Given the description of an element on the screen output the (x, y) to click on. 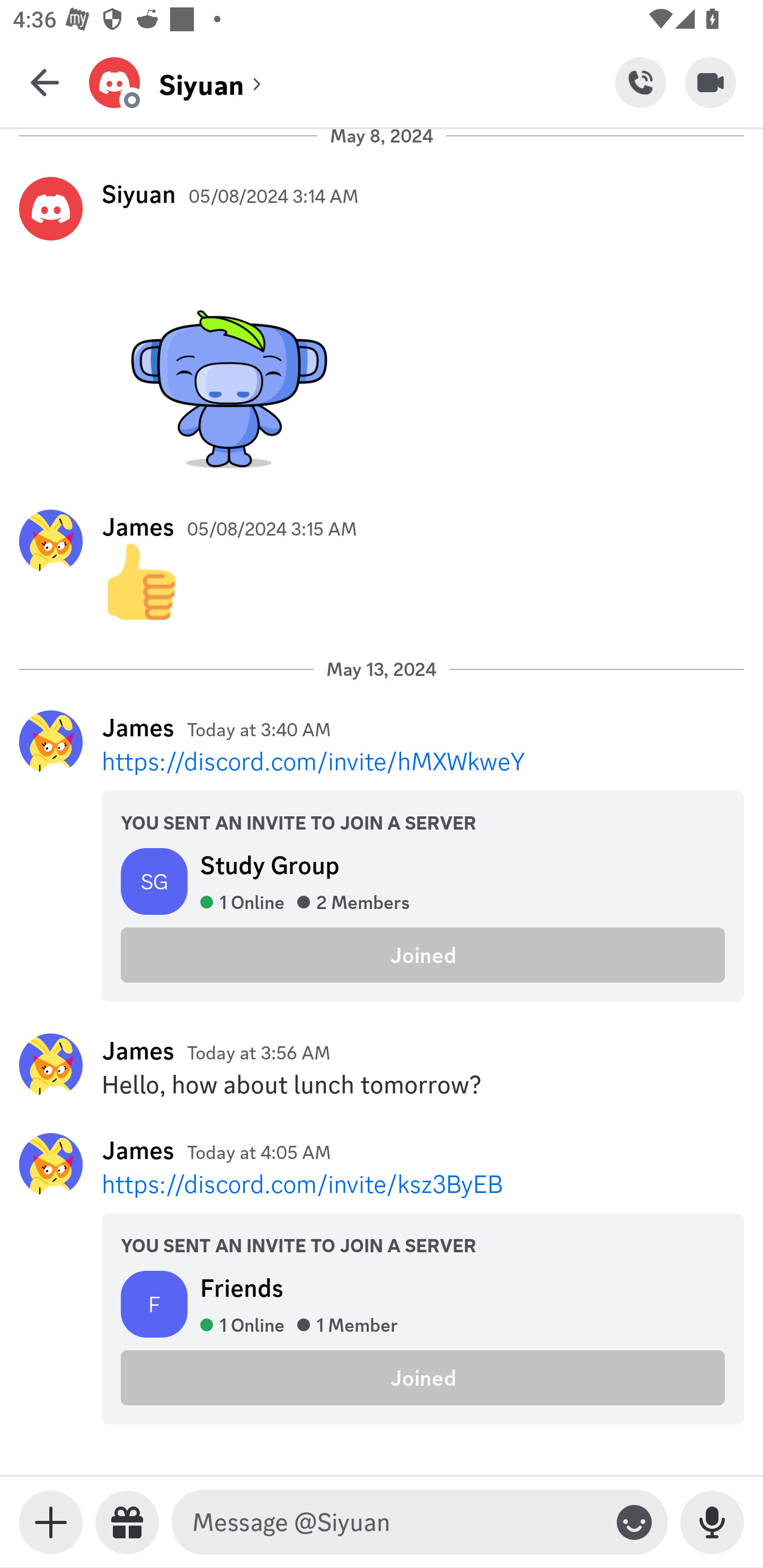
Siyuan (channel) Siyuan Siyuan (channel) (351, 82)
Back (44, 82)
Start Voice Call (640, 82)
Start Video Call (710, 82)
Siyuan 05/08/2024 3:14 AM (381, 327)
Siyuan (138, 193)
James (137, 526)
James (137, 727)
Joined (422, 955)
James (137, 1050)
James (137, 1149)
